Given the description of an element on the screen output the (x, y) to click on. 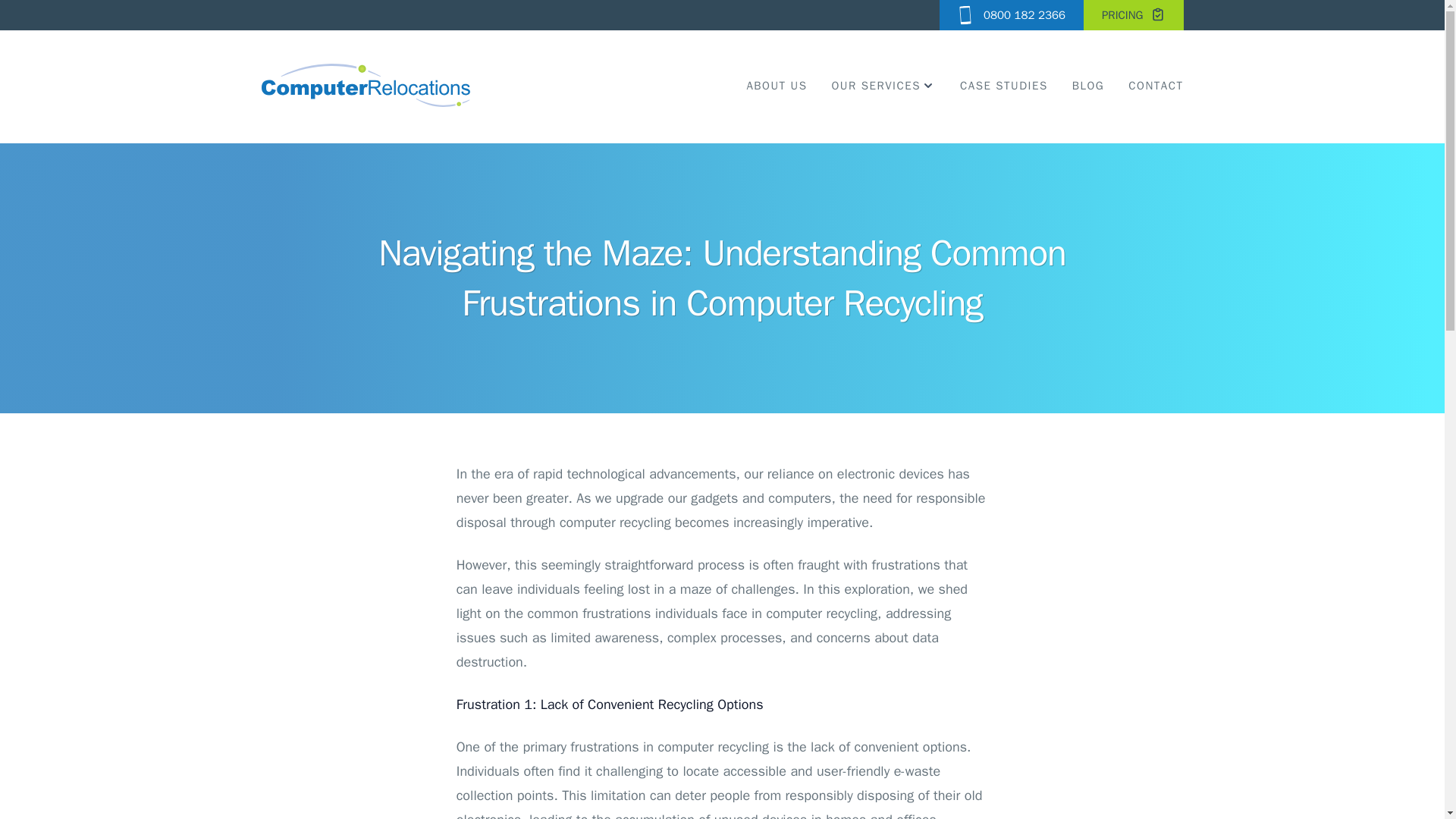
BLOG (1088, 85)
CASE STUDIES (1003, 85)
PRICING (1133, 15)
ABOUT US (775, 85)
CONTACT (1155, 85)
OUR SERVICES (883, 85)
0800 182 2366 (1011, 15)
